Given the description of an element on the screen output the (x, y) to click on. 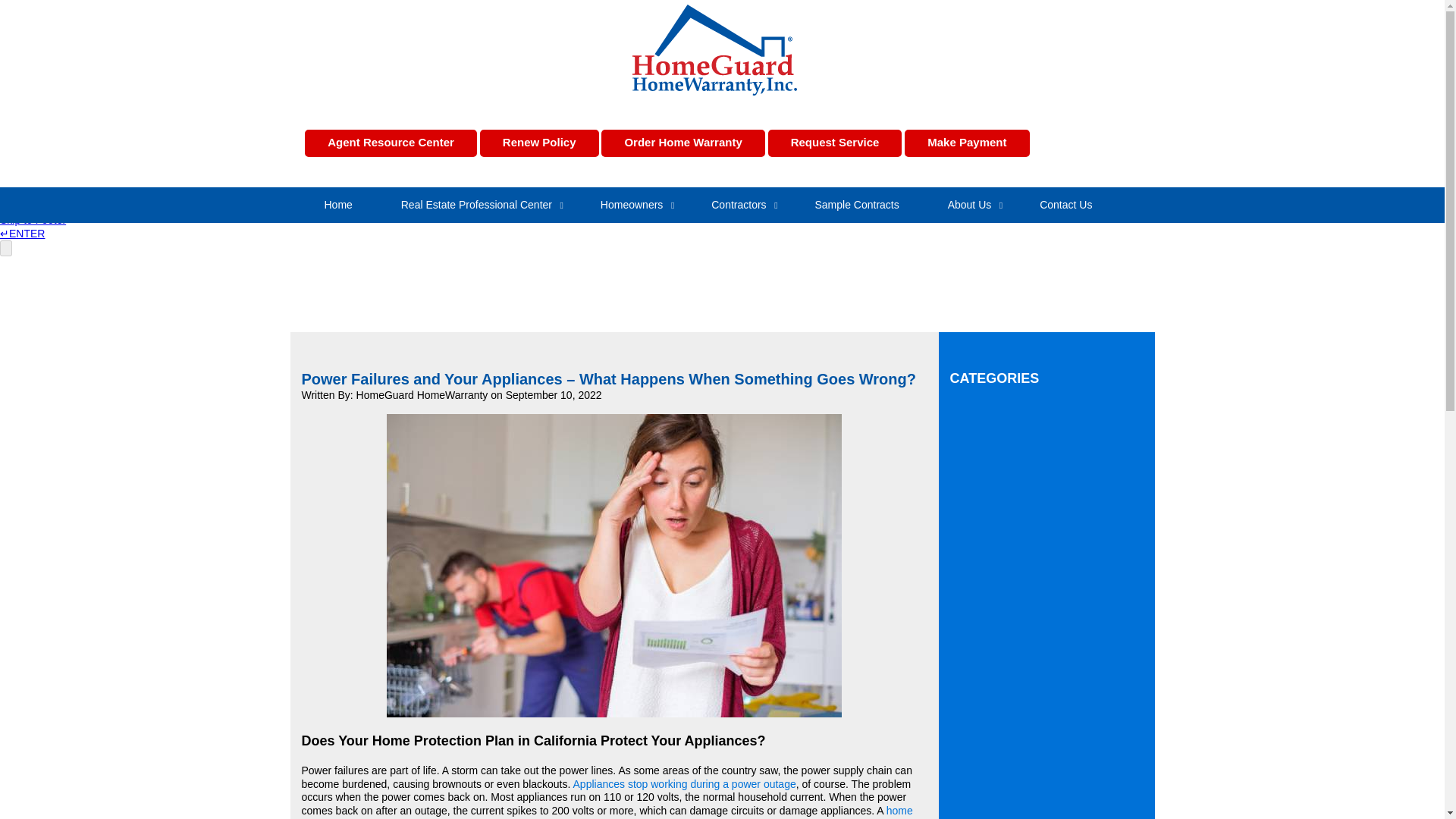
Agent Resource Center (390, 142)
Order Home Warranty (682, 142)
Contractors (738, 205)
Homeowners (631, 205)
Sample Contracts (856, 205)
Request Service (835, 142)
Home (338, 205)
About Us (969, 205)
Renew Policy (539, 142)
